Given the description of an element on the screen output the (x, y) to click on. 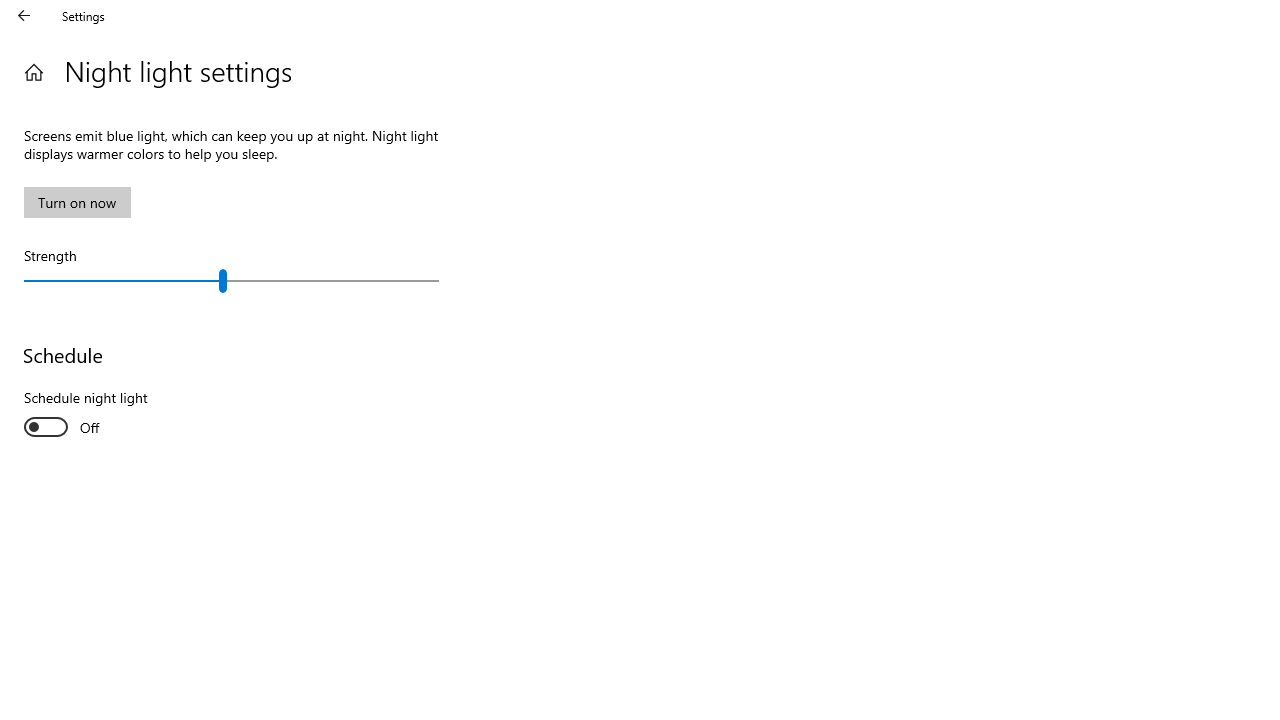
Schedule night light (97, 415)
Turn on now (77, 202)
Strength (231, 280)
Back (24, 15)
Home (33, 71)
